Given the description of an element on the screen output the (x, y) to click on. 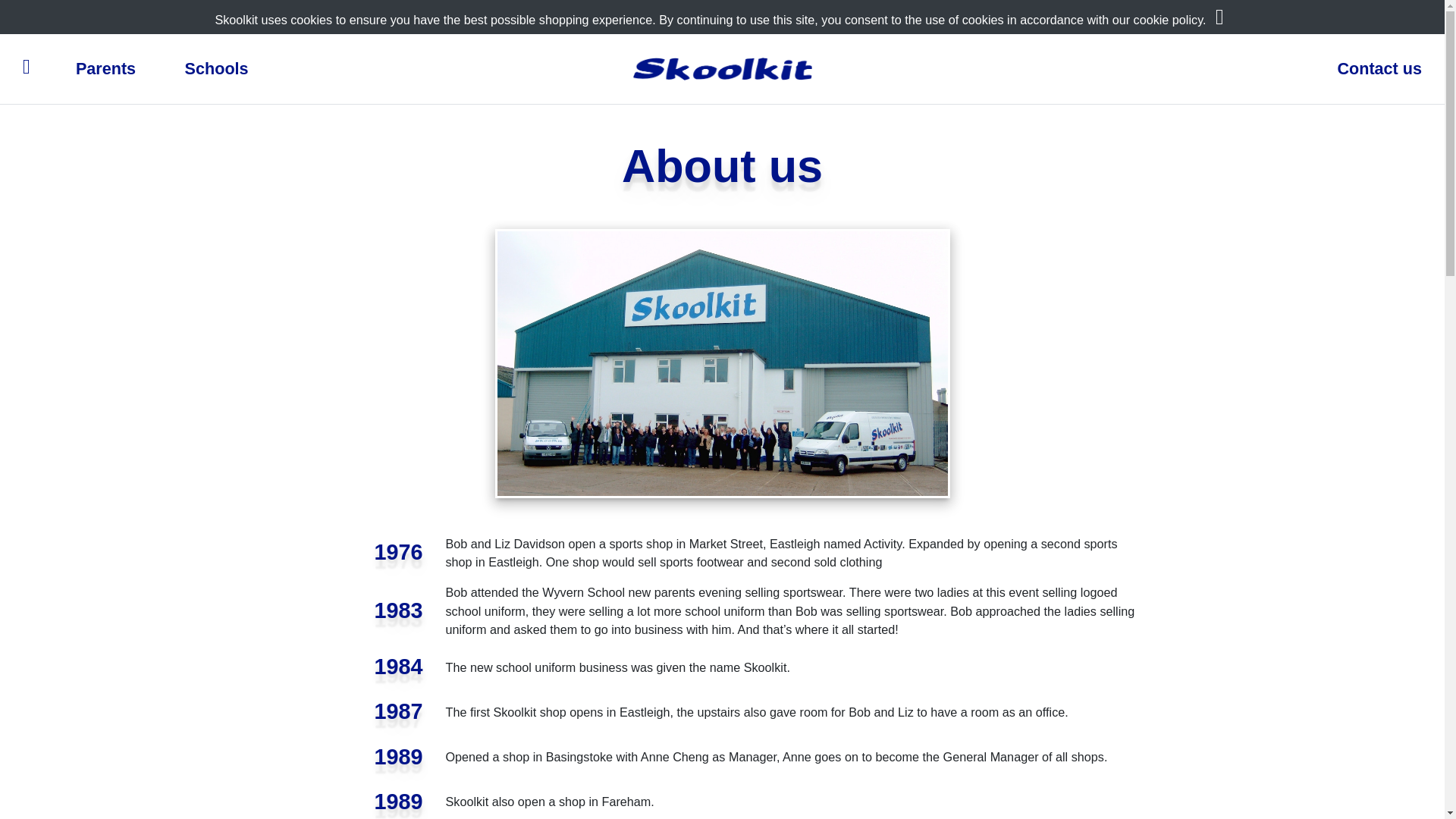
Parents (105, 69)
Schools (215, 69)
cookie policy (1168, 19)
